Given the description of an element on the screen output the (x, y) to click on. 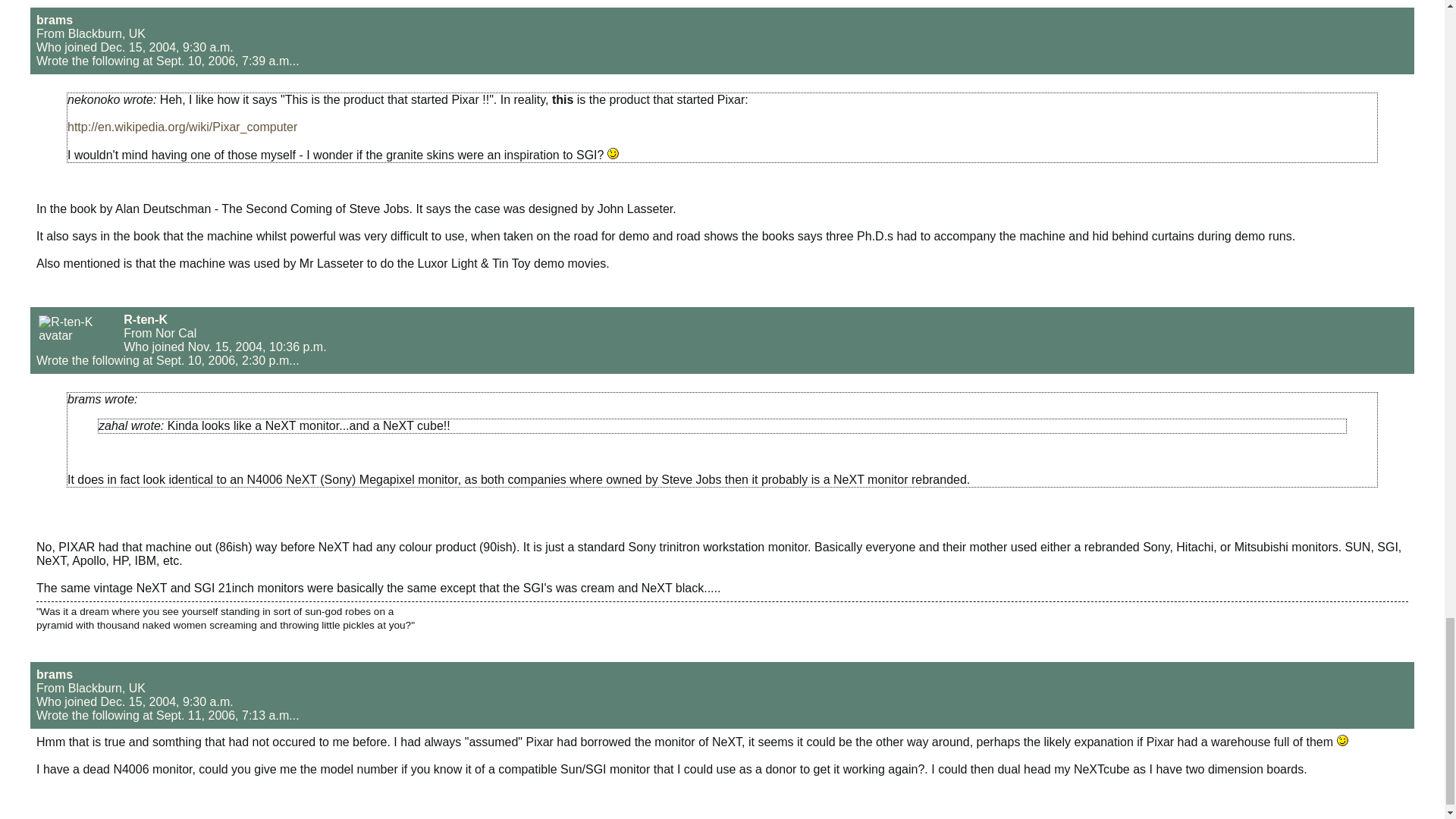
brams (54, 19)
brams (54, 674)
R-ten-K (145, 318)
Wink (612, 153)
Wink (1342, 740)
